Given the description of an element on the screen output the (x, y) to click on. 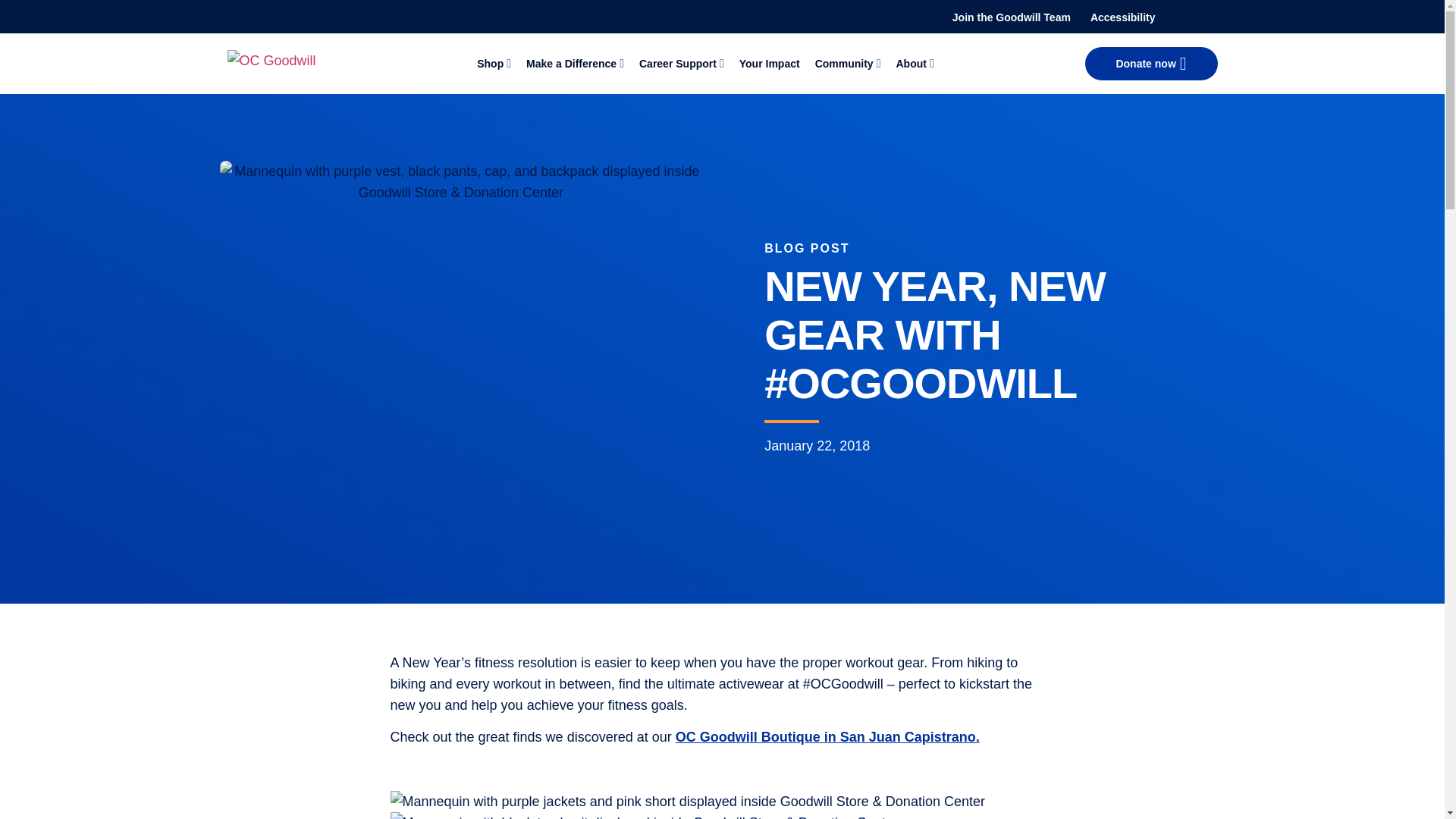
Shop (490, 63)
Join the Goodwill Team (1010, 17)
About (910, 63)
Career Support (677, 63)
Accessibility (1123, 17)
Community (844, 63)
Donate now (1150, 63)
Your Impact (769, 63)
OC Goodwill Boutique in San Juan Capistrano. (827, 736)
Make a Difference (570, 63)
